Given the description of an element on the screen output the (x, y) to click on. 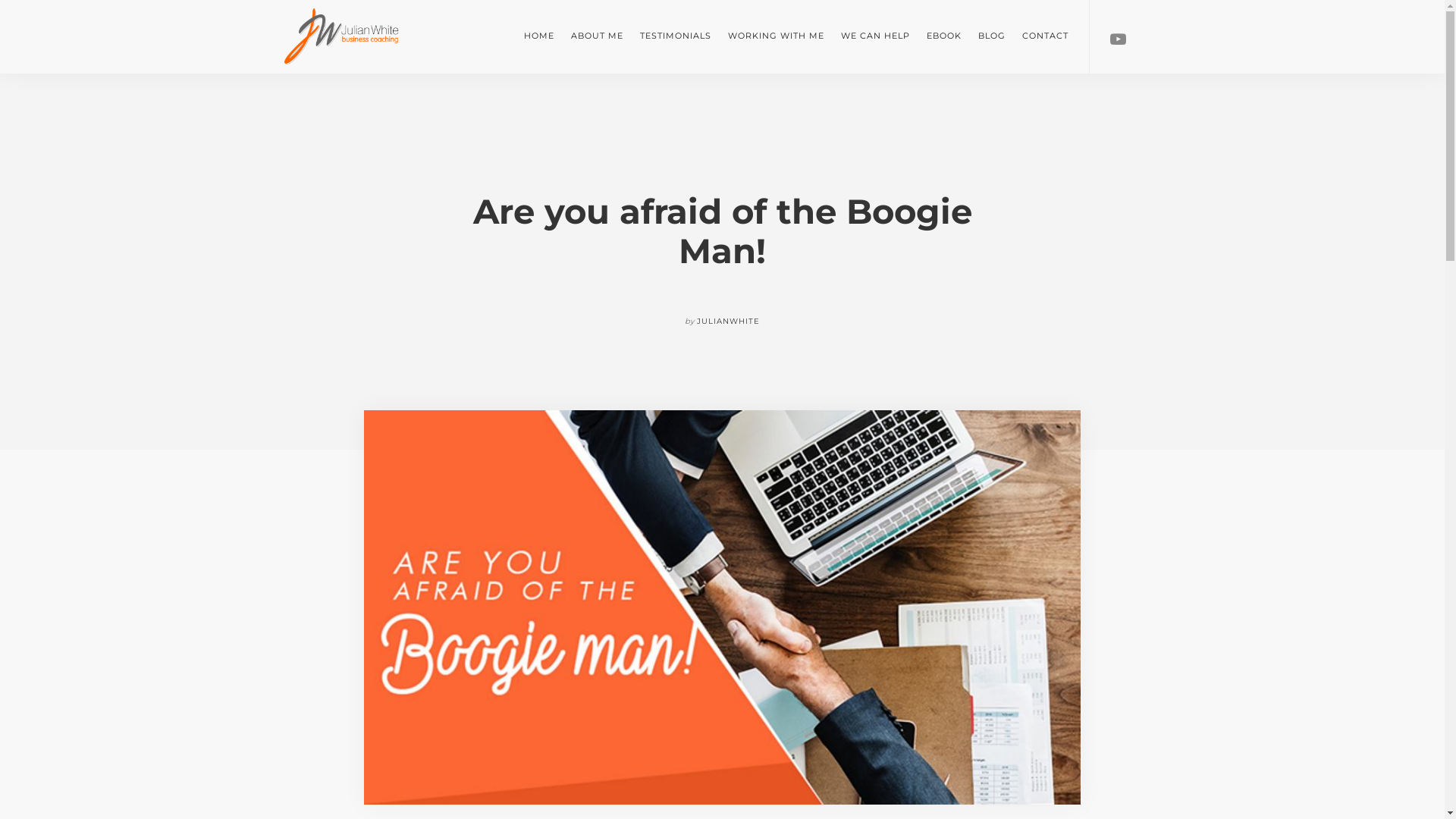
TESTIMONIALS Element type: text (675, 35)
ABOUT ME Element type: text (596, 35)
BLOG Element type: text (991, 35)
HOME Element type: text (538, 35)
CONTACT Element type: text (1044, 35)
WORKING WITH ME Element type: text (775, 35)
EBOOK Element type: text (943, 35)
WE CAN HELP Element type: text (875, 35)
